Given the description of an element on the screen output the (x, y) to click on. 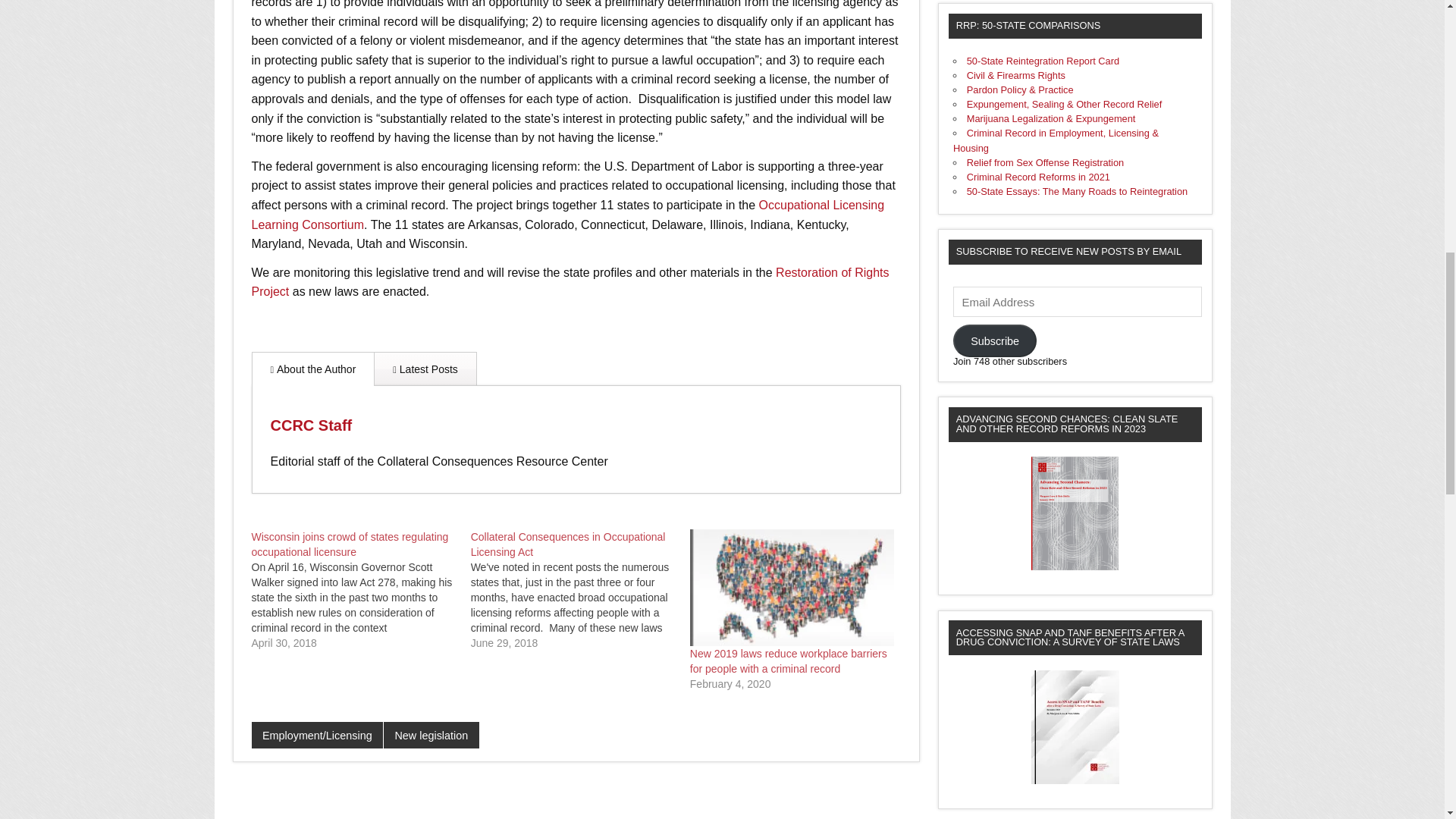
Collateral Consequences in Occupational Licensing Act (580, 589)
Collateral Consequences in Occupational Licensing Act (567, 543)
